Given the description of an element on the screen output the (x, y) to click on. 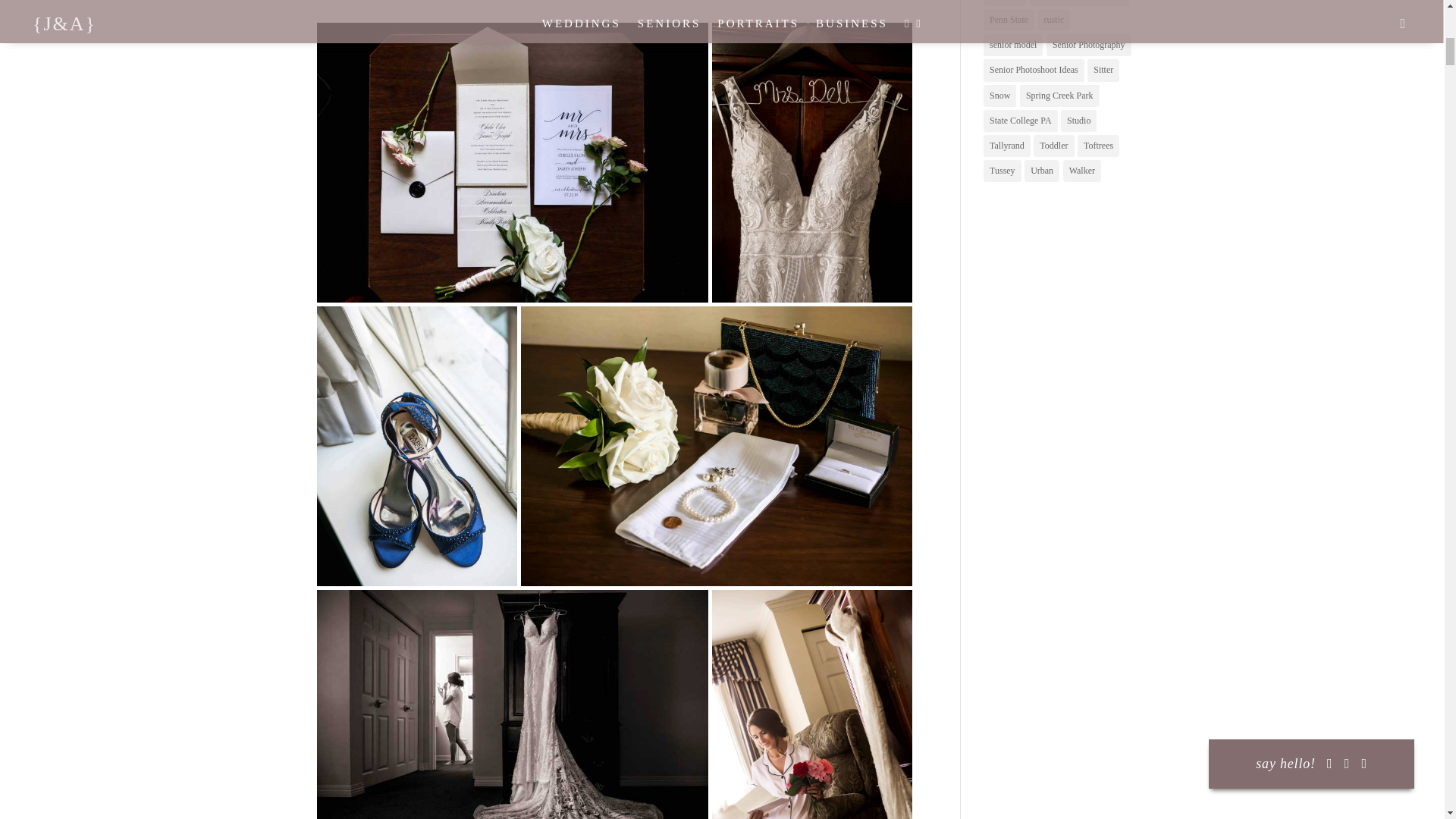
072719-001 (512, 162)
072719-013 (512, 704)
072719-012 (715, 446)
